Given the description of an element on the screen output the (x, y) to click on. 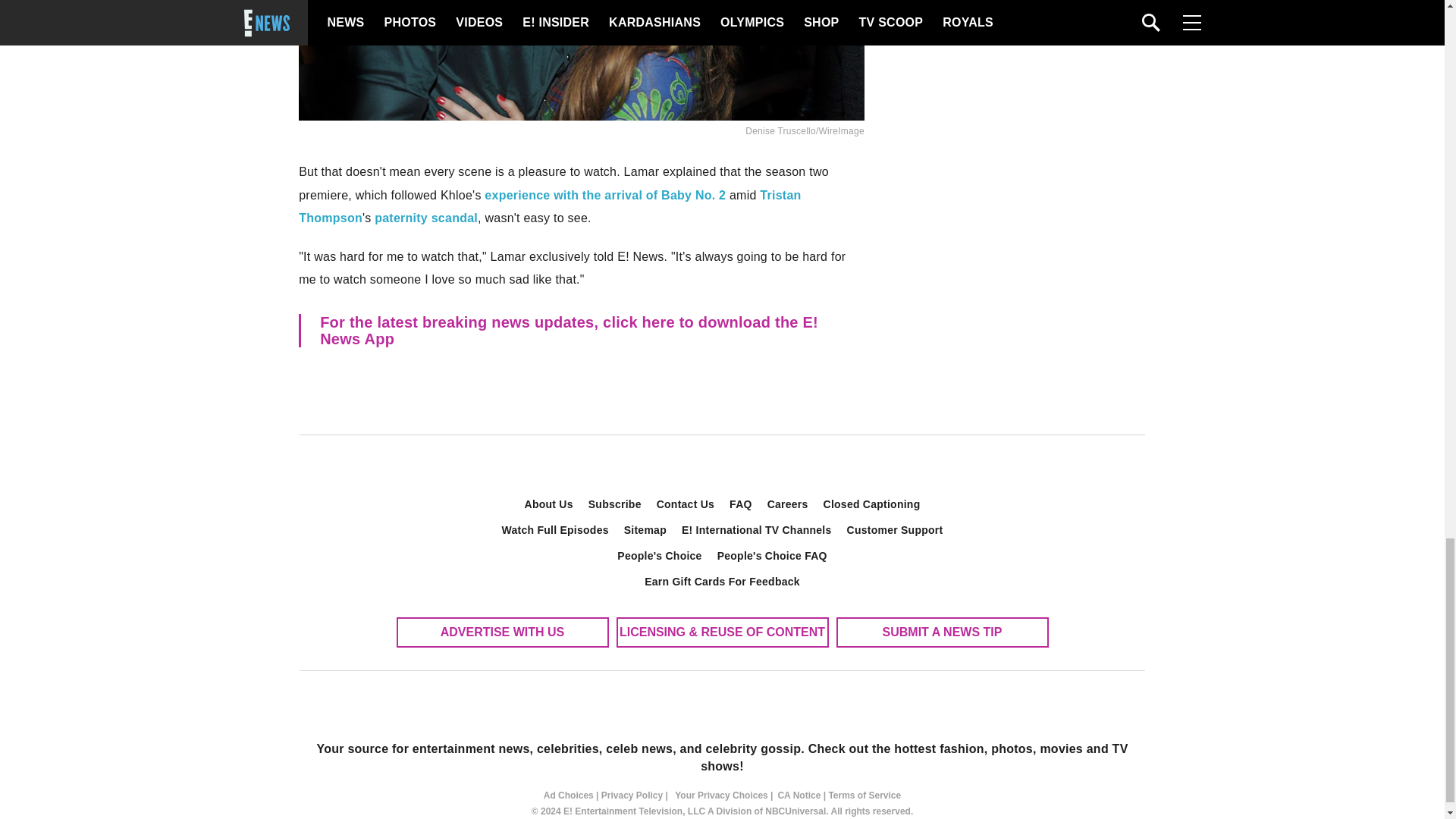
paternity scandal (425, 217)
experience with the arrival of Baby No. 2 (604, 195)
Tristan Thompson (549, 206)
